Given the description of an element on the screen output the (x, y) to click on. 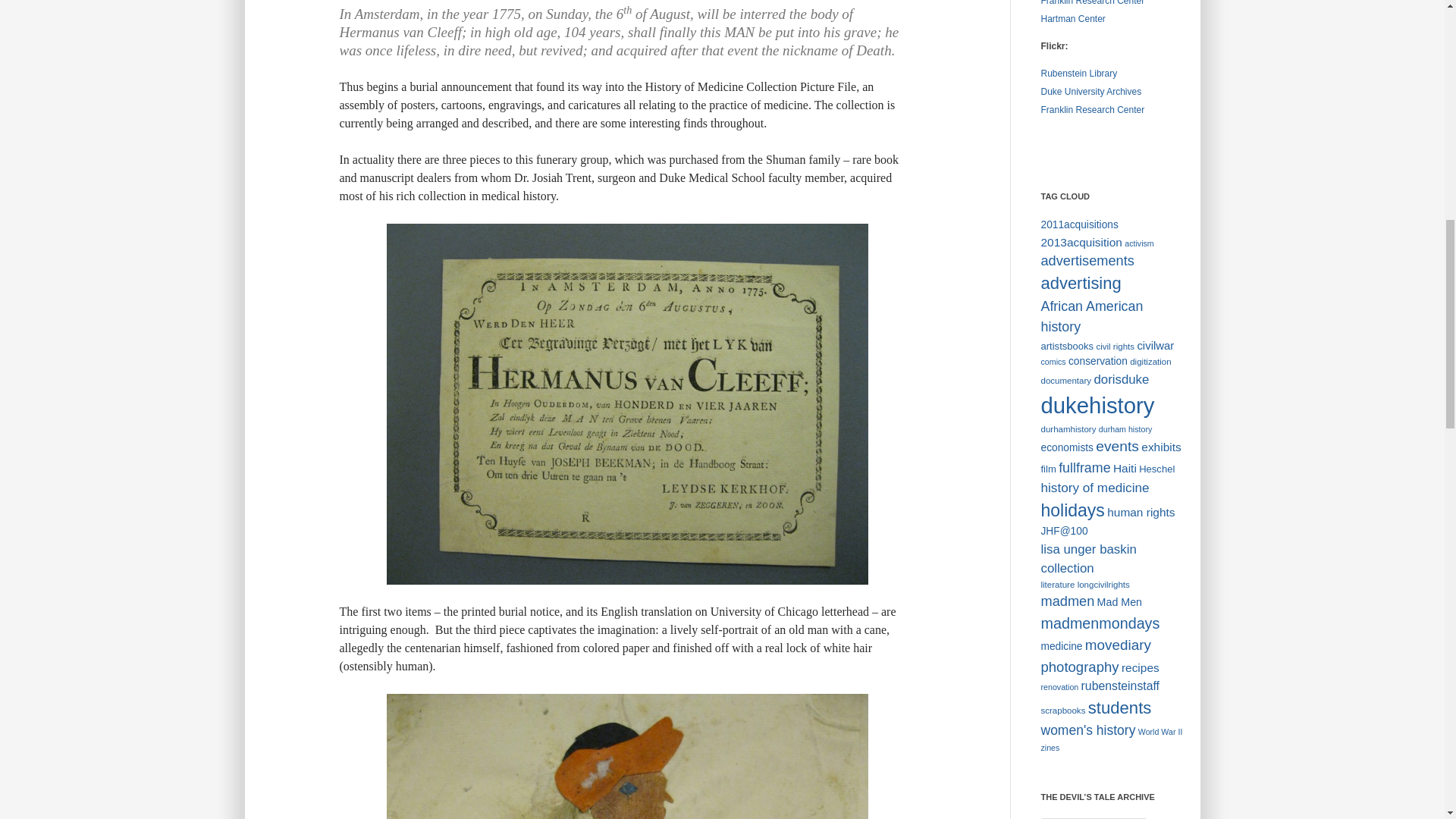
2011acquisitions (1079, 224)
Franklin Research Center (1092, 2)
activism (1138, 243)
2013acquisition (1081, 241)
Duke University Archives (1091, 91)
advertising (1081, 282)
advertisements (1087, 260)
Hartman Center (1073, 18)
Rubenstein Library (1078, 72)
Franklin Research Center (1092, 109)
African American history (1091, 316)
